Given the description of an element on the screen output the (x, y) to click on. 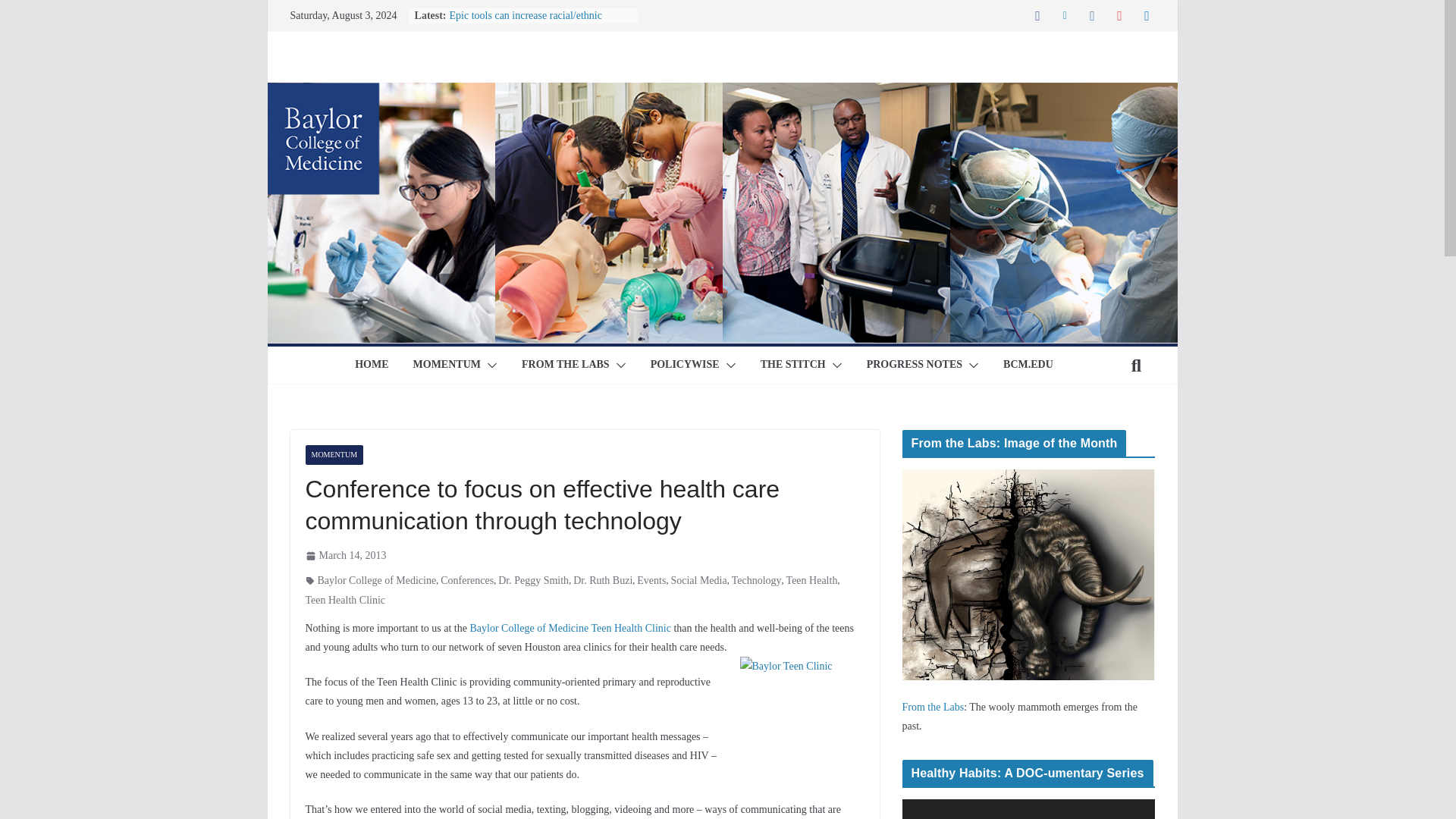
3:00 pm (344, 555)
THE STITCH (792, 364)
FROM THE LABS (565, 364)
PROGRESS NOTES (914, 364)
BCM.EDU (1027, 364)
MOMENTUM (446, 364)
POLICYWISE (684, 364)
HOME (371, 364)
